Given the description of an element on the screen output the (x, y) to click on. 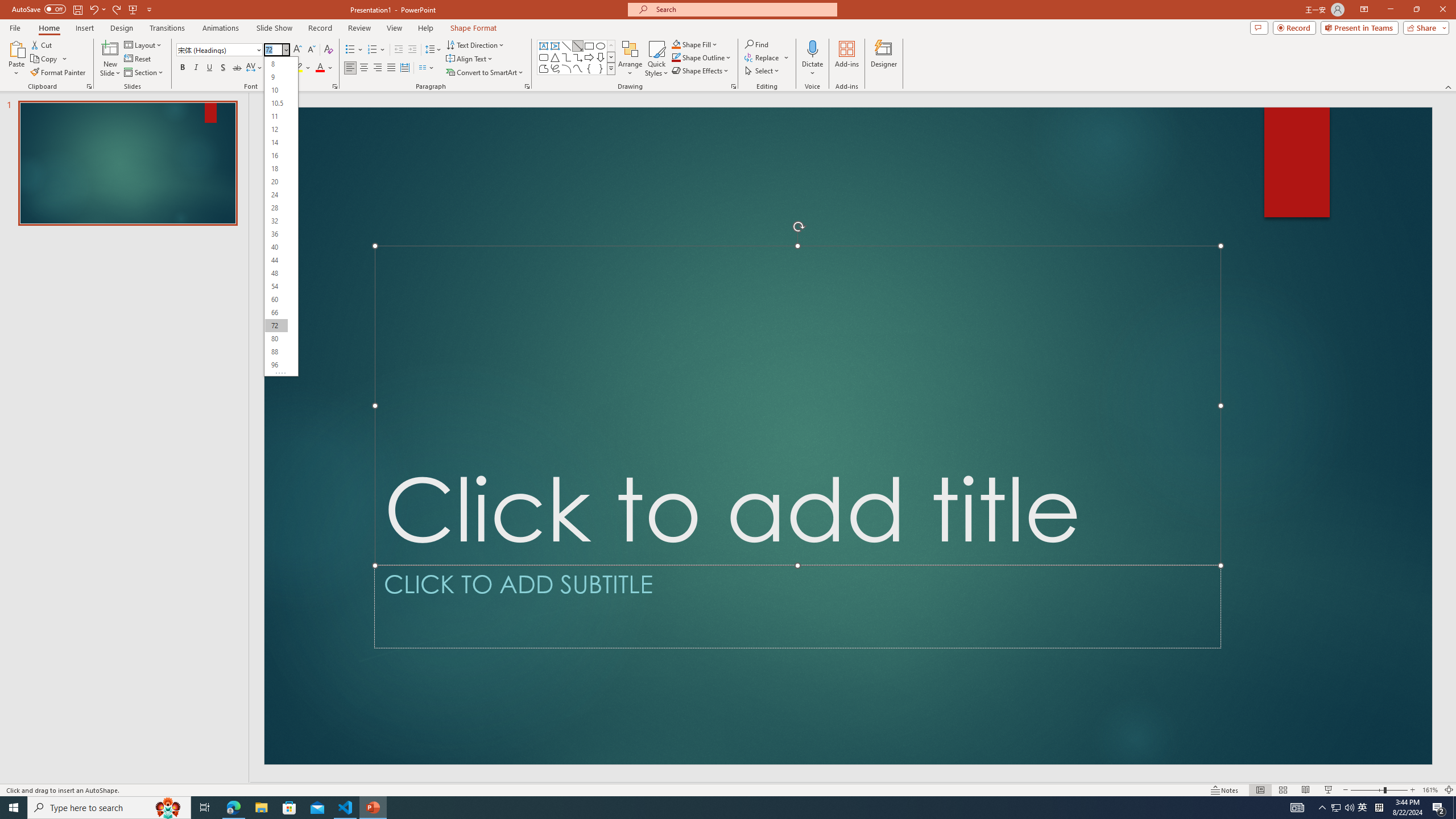
16 (276, 155)
